Given the description of an element on the screen output the (x, y) to click on. 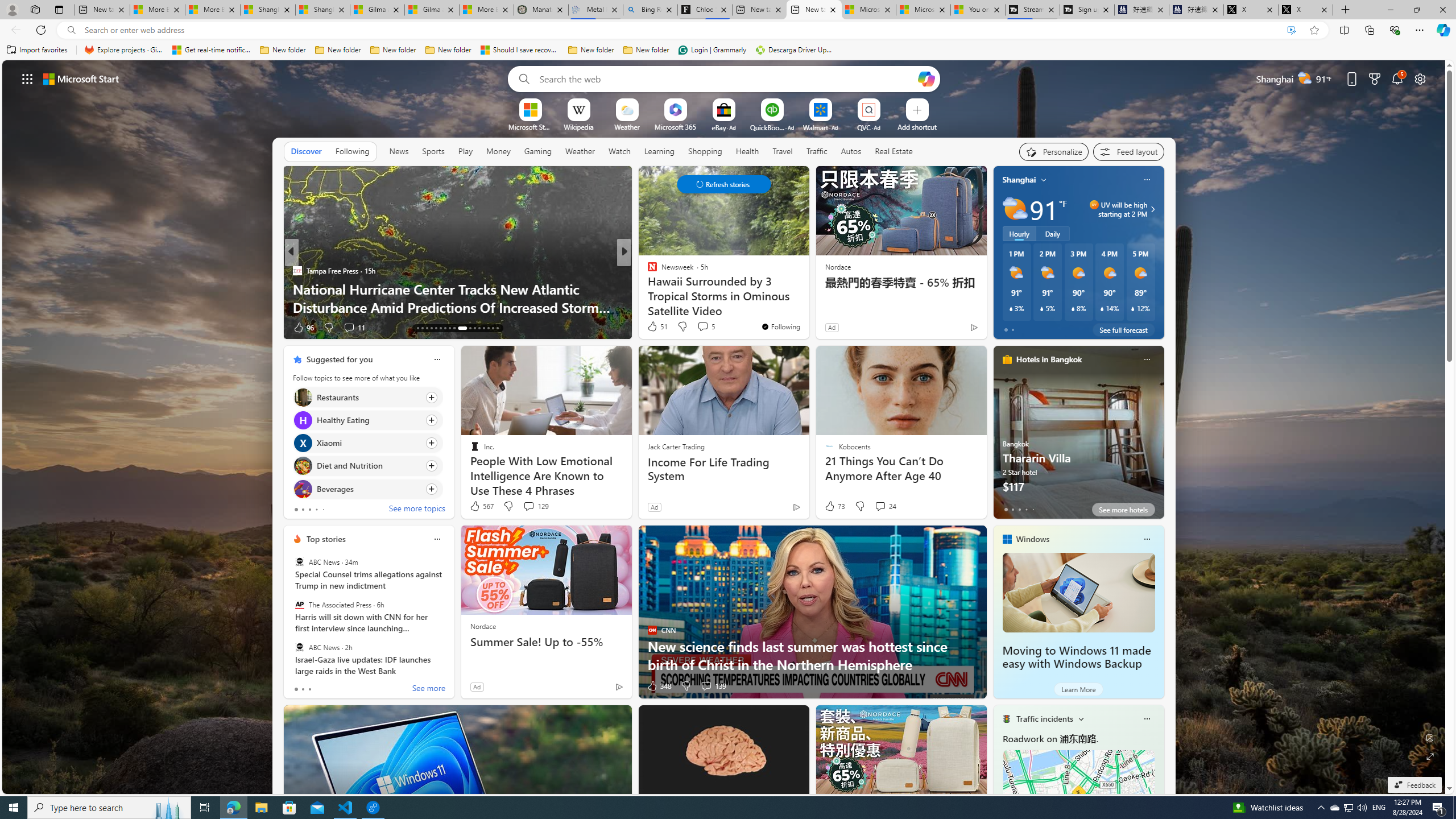
Moving to Windows 11 made easy with Windows Backup (1077, 592)
Click to follow topic Healthy Eating (367, 419)
tab-4 (1032, 509)
